Given the description of an element on the screen output the (x, y) to click on. 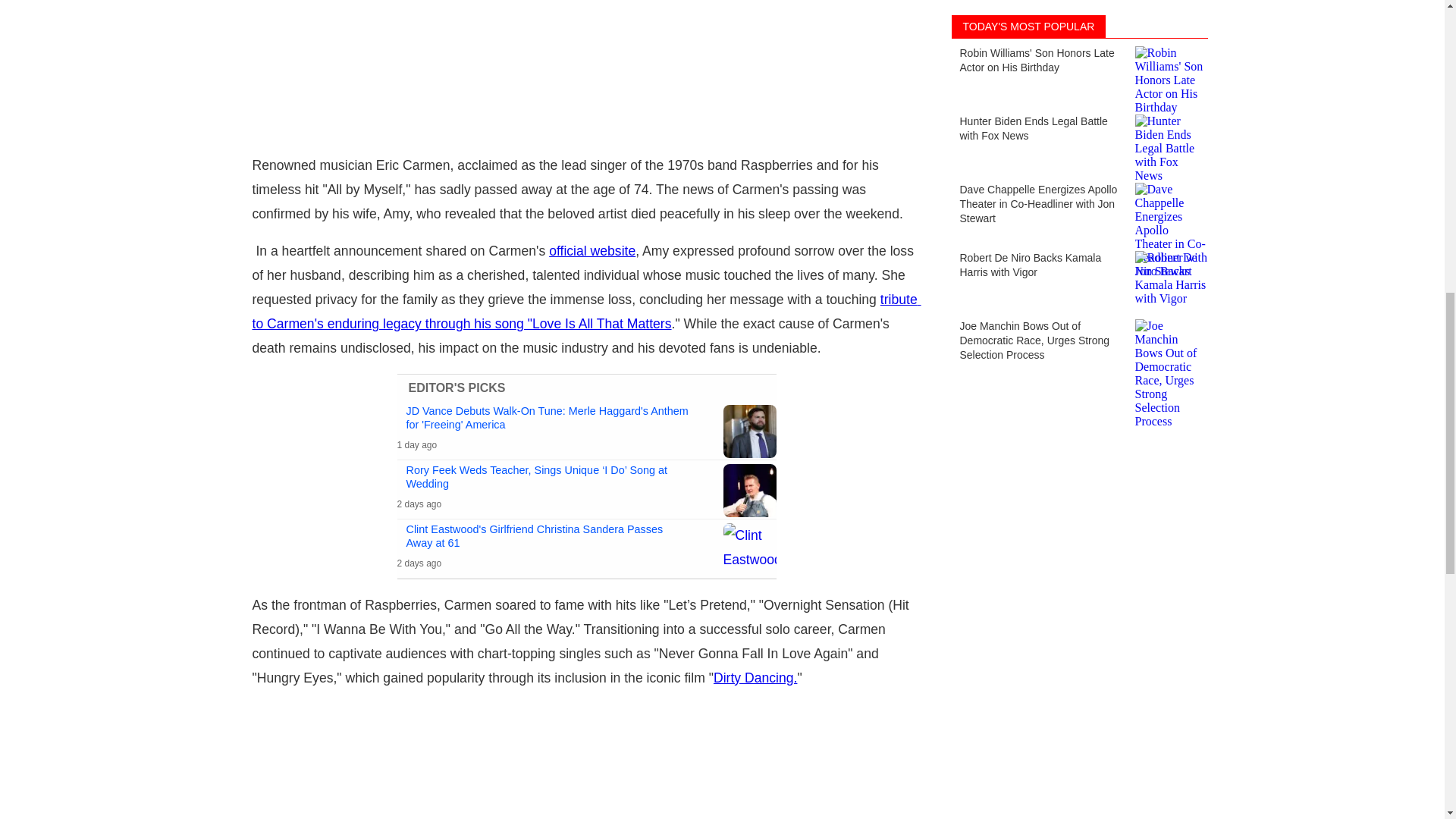
official website (591, 250)
Dirty Dancing. (755, 677)
